Given the description of an element on the screen output the (x, y) to click on. 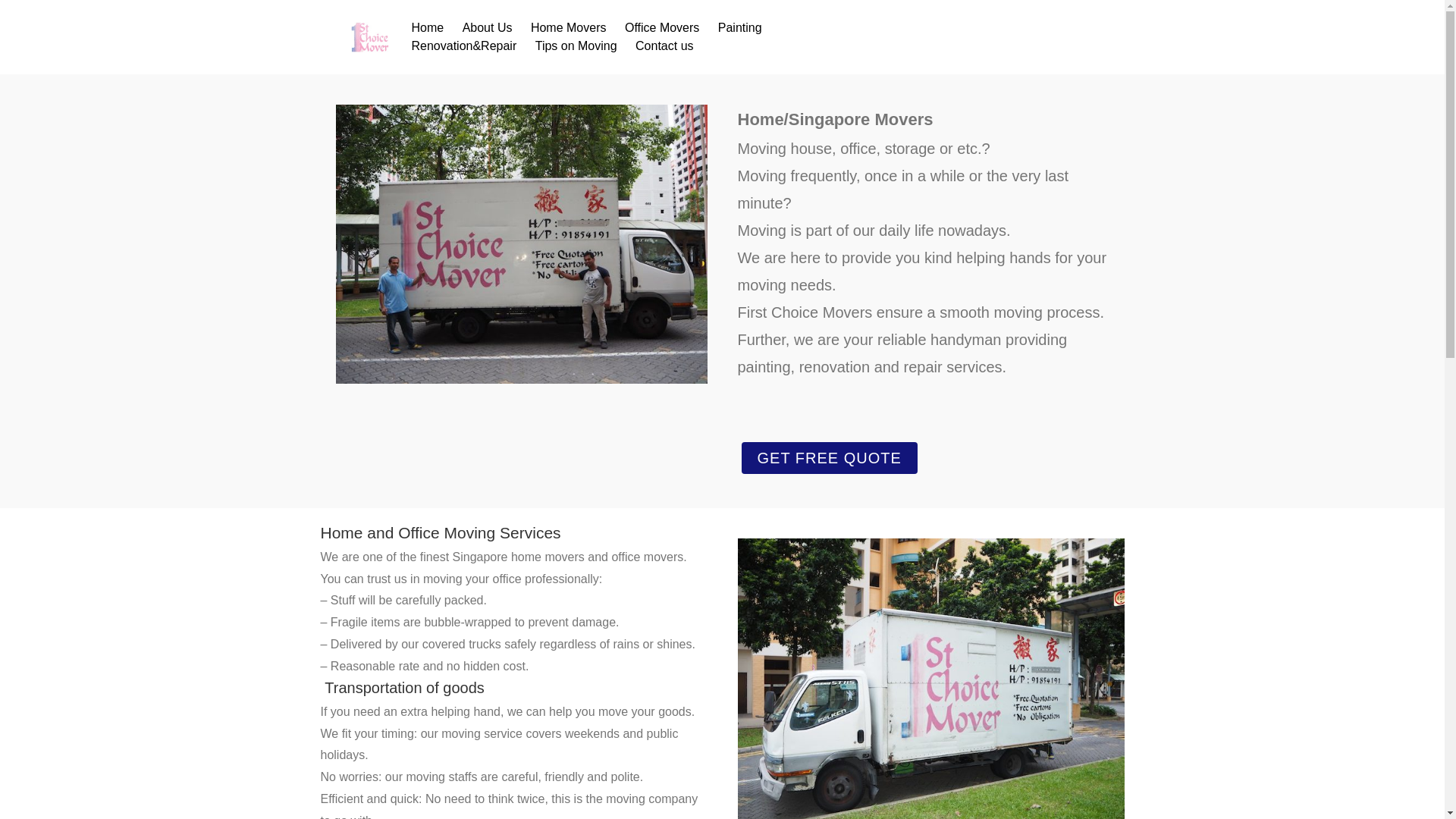
Office Movers Element type: text (661, 27)
About Us Element type: text (487, 27)
Renovation&Repair Element type: text (463, 46)
Home Movers Element type: text (568, 27)
Painting Element type: text (739, 27)
Tips on Moving Element type: text (575, 46)
GET FREE QUOTE Element type: text (829, 457)
Contact us Element type: text (663, 46)
Home Element type: text (427, 27)
